Given the description of an element on the screen output the (x, y) to click on. 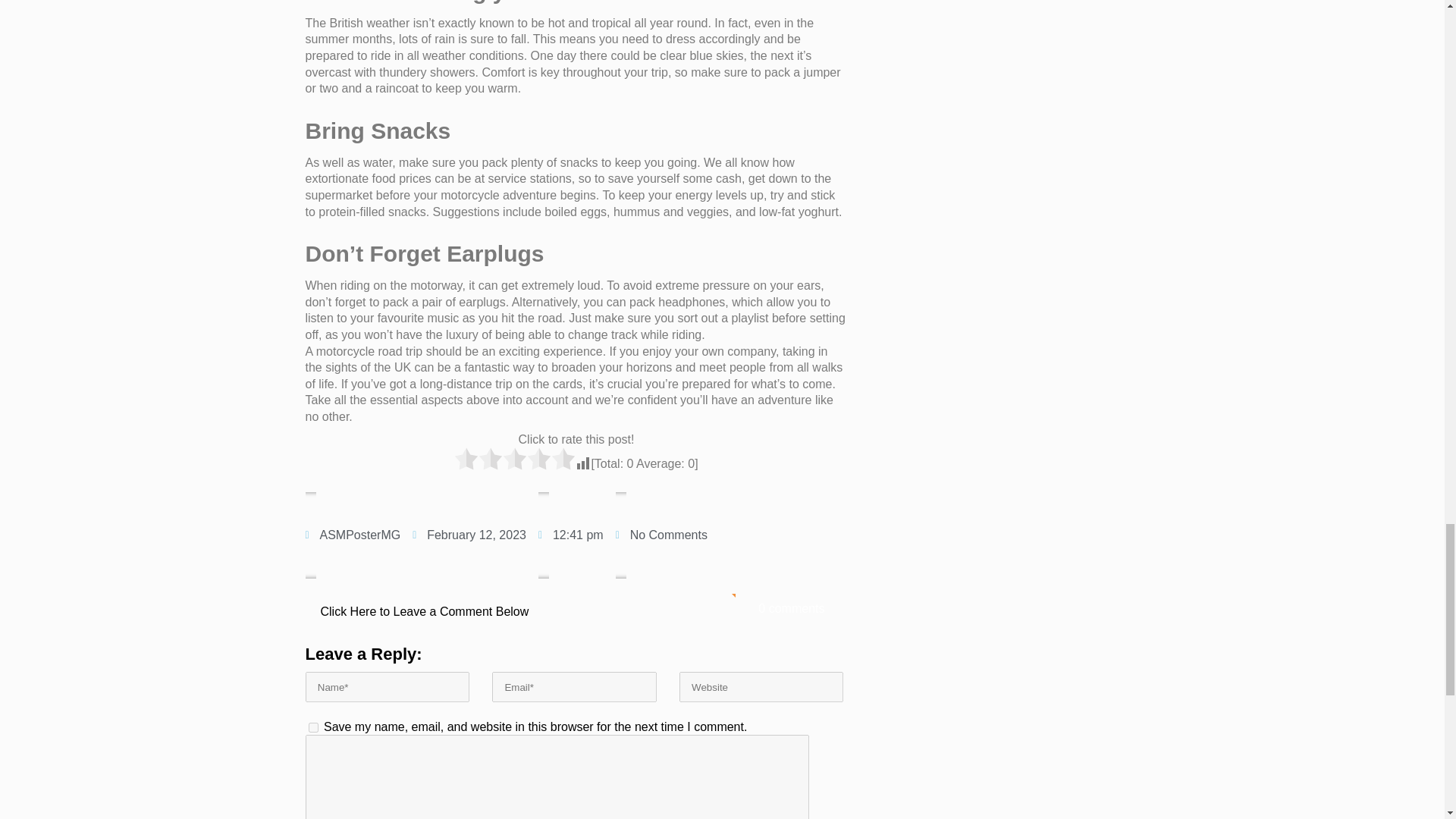
yes (312, 727)
